Given the description of an element on the screen output the (x, y) to click on. 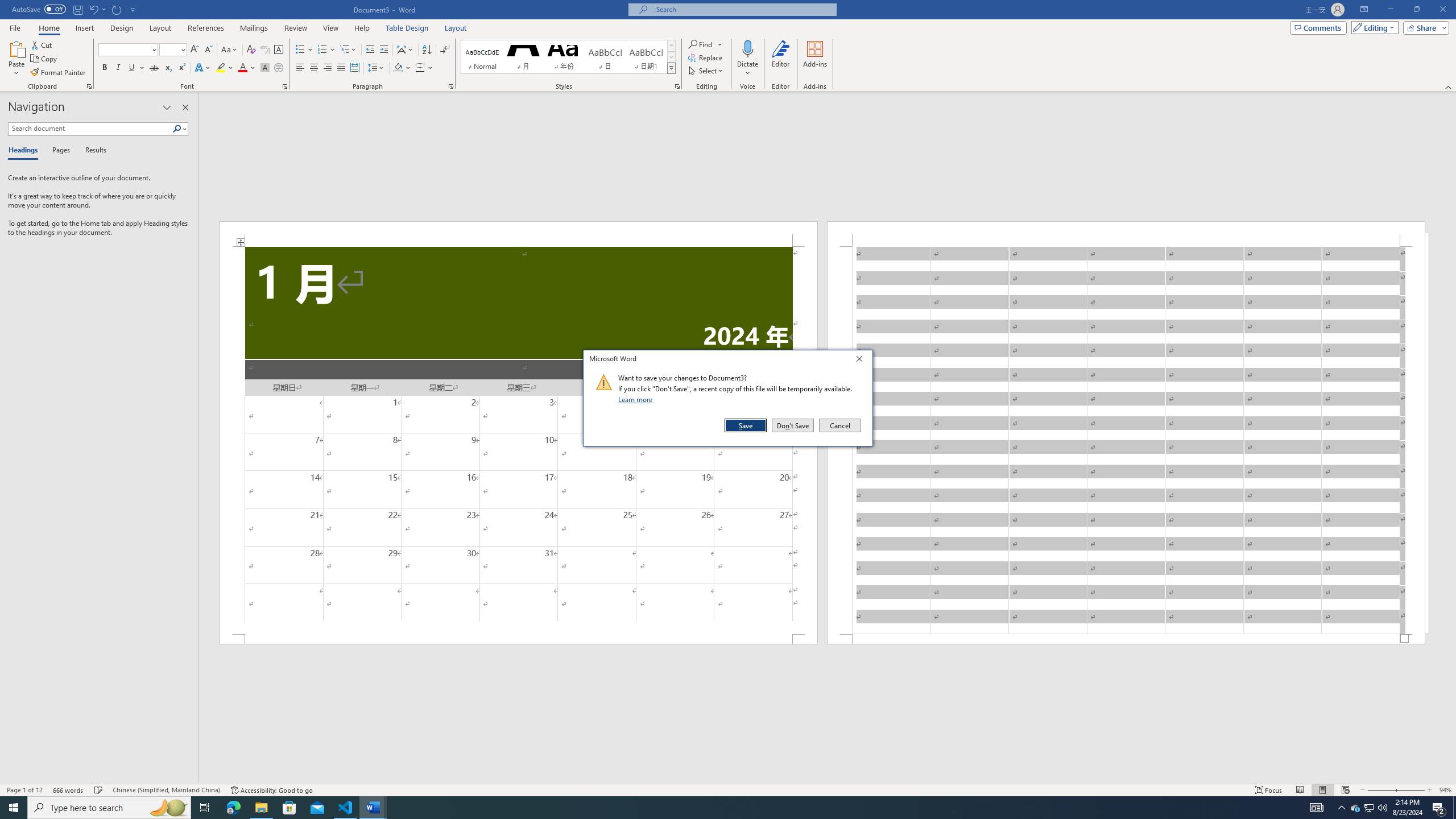
Align Right (327, 67)
Show/Hide Editing Marks (444, 49)
Microsoft search (742, 9)
Show desktop (1454, 807)
Search highlights icon opens search home window (167, 807)
Asian Layout (405, 49)
Search document (89, 128)
Paragraph... (450, 85)
AutomationID: QuickStylesGallery (568, 56)
Spelling and Grammar Check Checking (98, 790)
Bullets (304, 49)
Open (182, 49)
Share (1423, 27)
Subscript (167, 67)
